Given the description of an element on the screen output the (x, y) to click on. 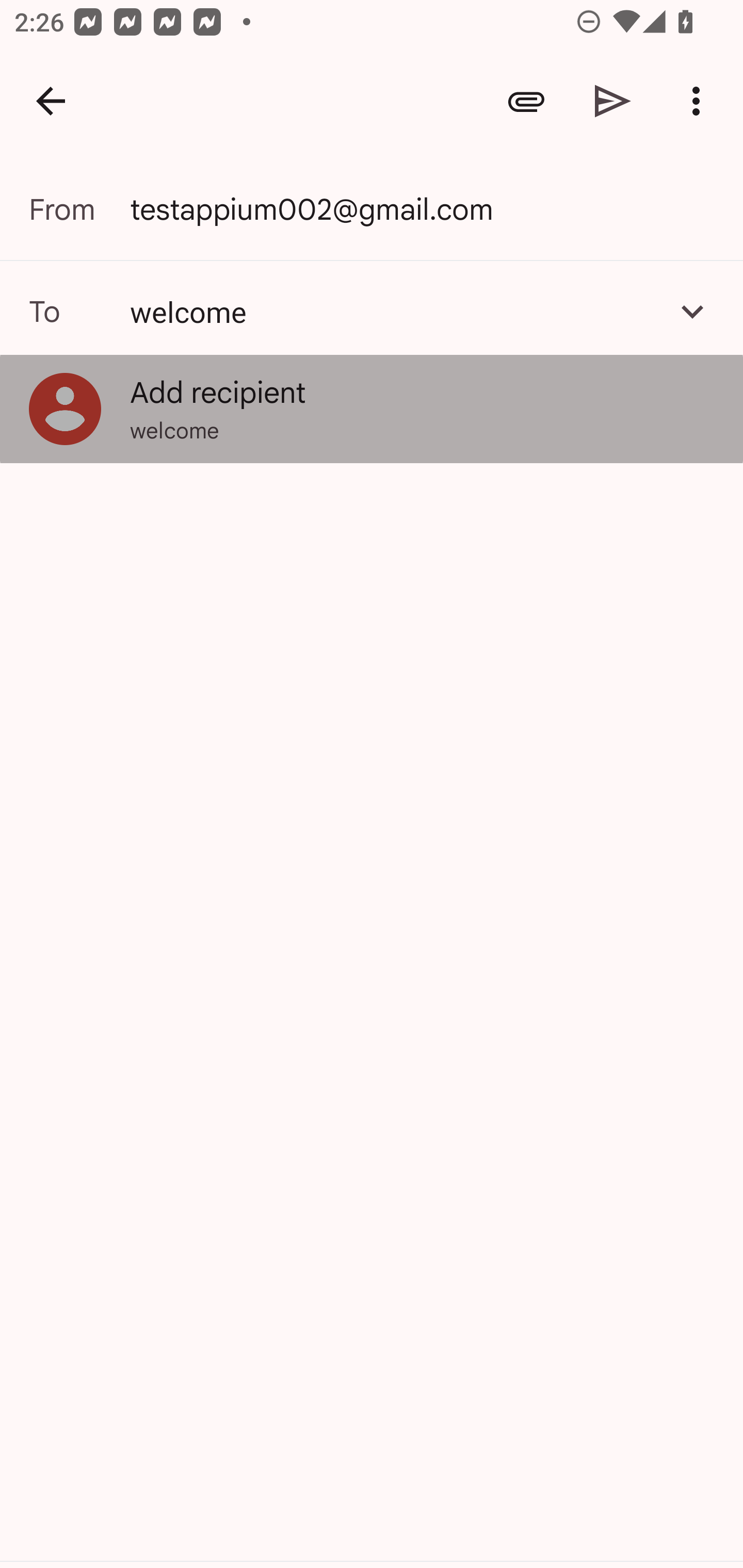
Navigate up (50, 101)
Attach file (525, 101)
Send (612, 101)
More options (699, 101)
From (79, 209)
Add Cc/Bcc (692, 311)
welcome (393, 311)
Add recipient welcome (371, 408)
